Given the description of an element on the screen output the (x, y) to click on. 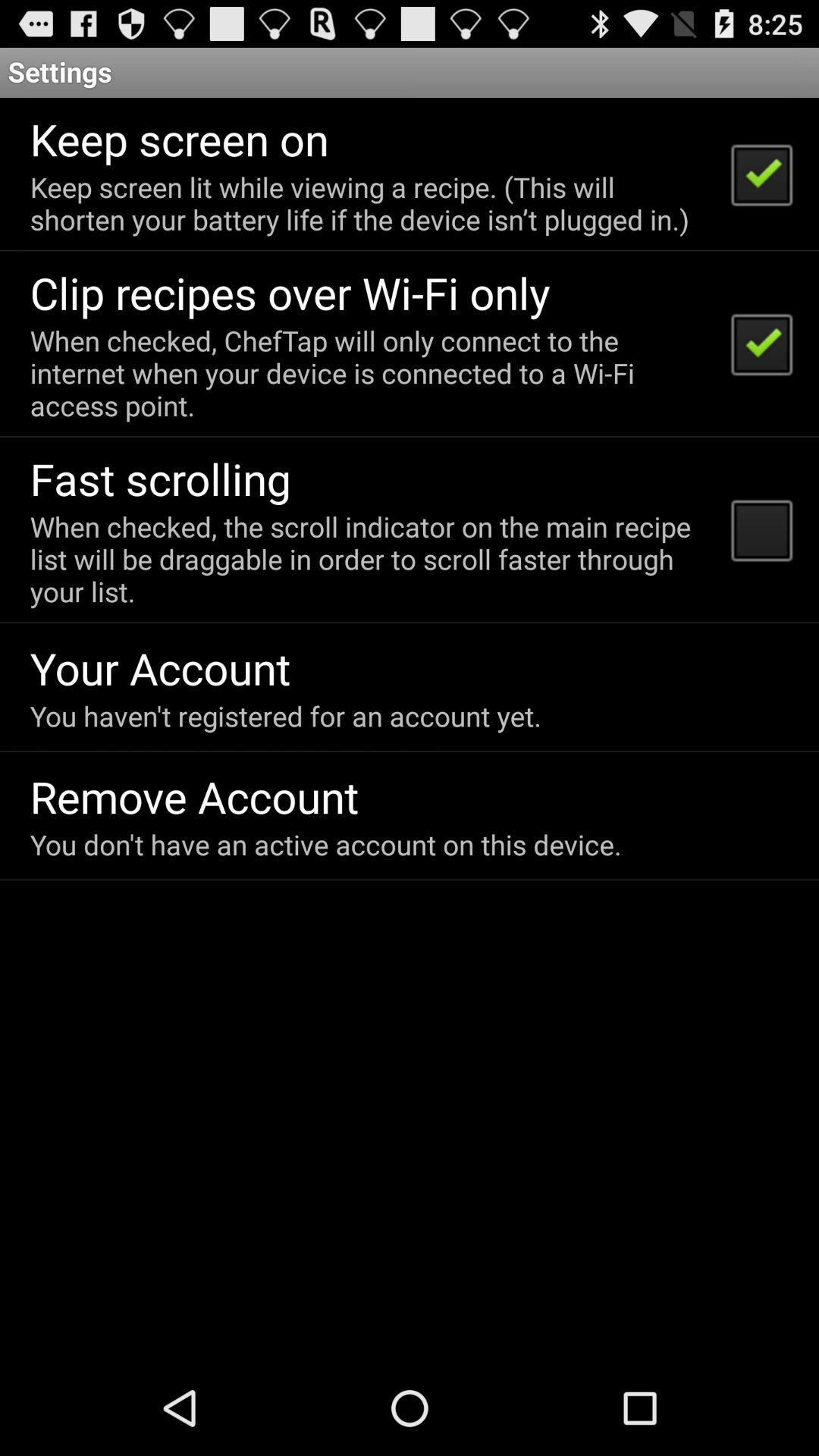
open the fast scrolling (160, 478)
